Given the description of an element on the screen output the (x, y) to click on. 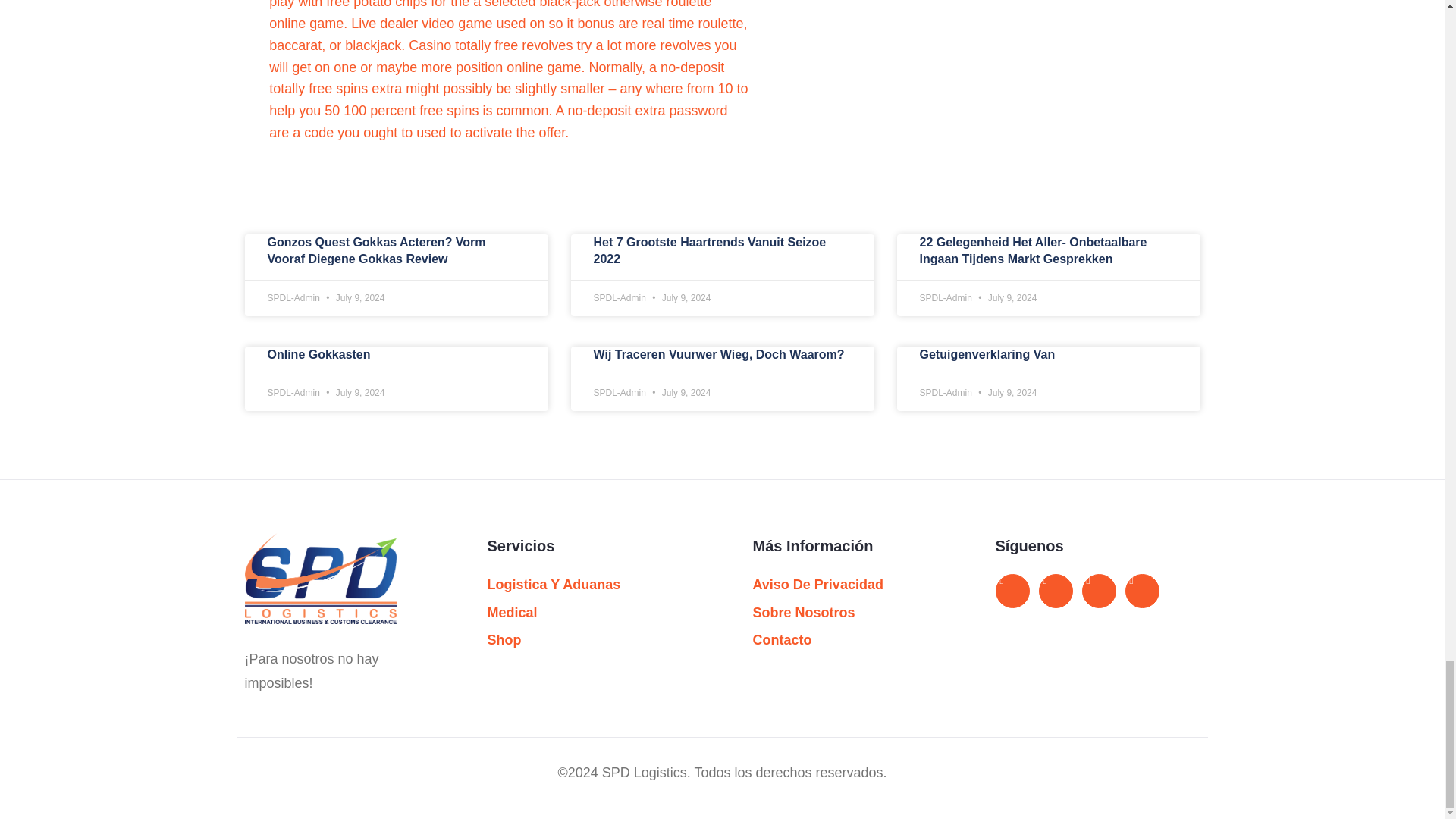
Aviso De Privacidad (854, 585)
Contacto (854, 640)
Sobre Nosotros (854, 612)
Online Gokkasten (317, 354)
Getuigenverklaring Van (986, 354)
Logistica Y Aduanas (588, 585)
Wij Traceren Vuurwer Wieg, Doch Waarom? (718, 354)
Het 7 Grootste Haartrends Vanuit Seizoe 2022 (708, 250)
Medical (588, 612)
Shop (588, 640)
